Given the description of an element on the screen output the (x, y) to click on. 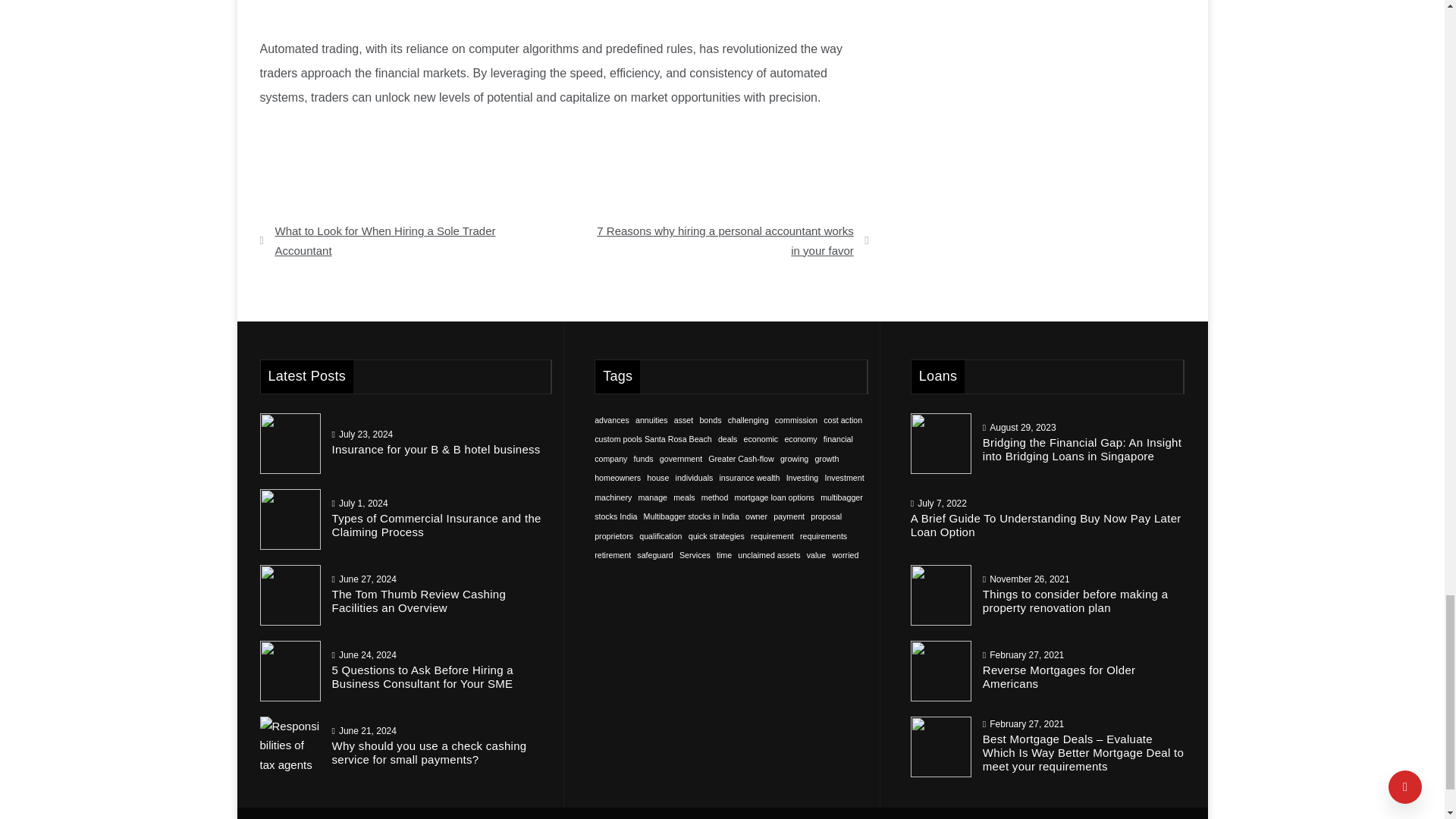
What to Look for When Hiring a Sole Trader Accountant (406, 240)
